Given the description of an element on the screen output the (x, y) to click on. 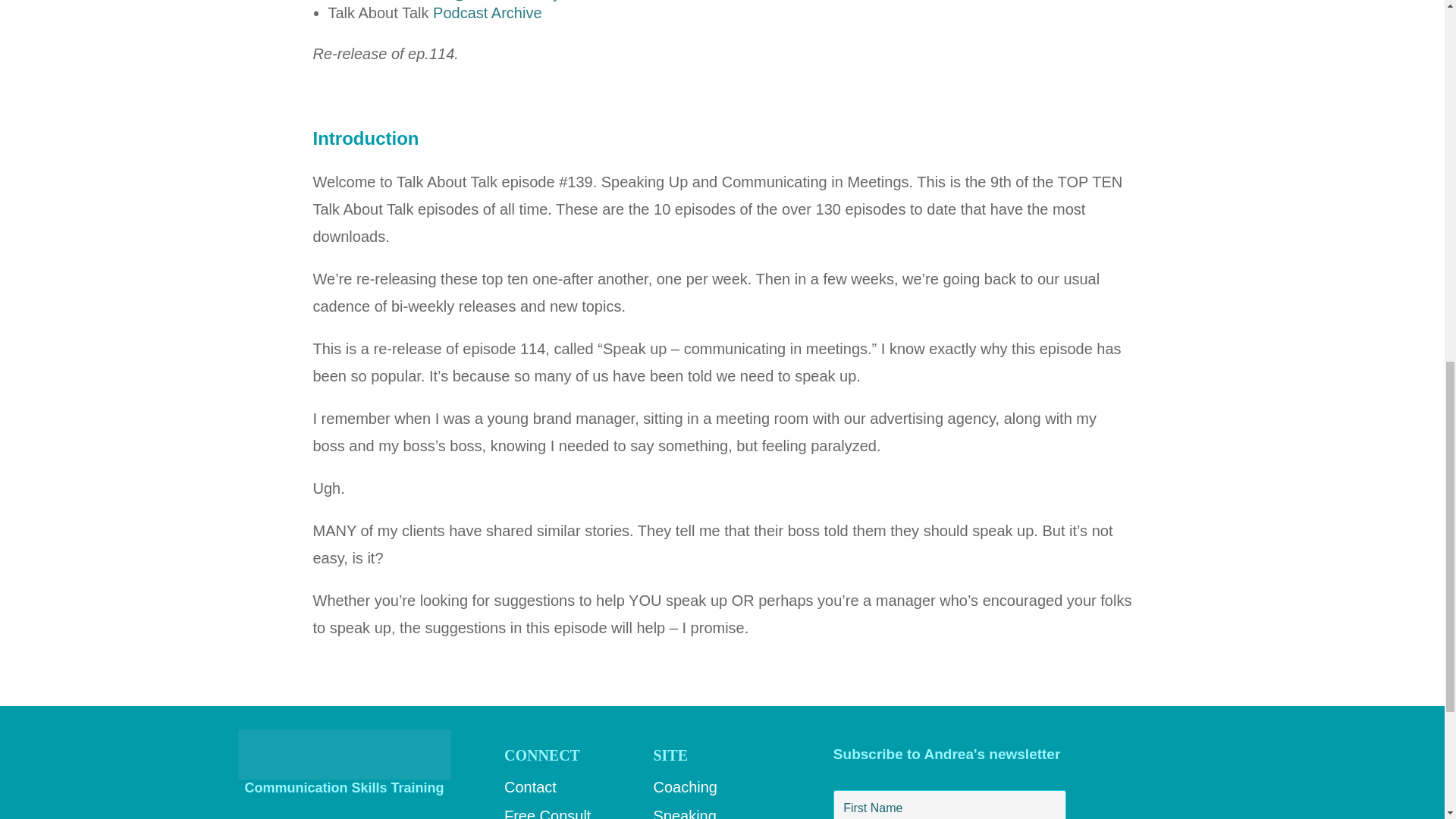
Talk About Talk logo - white text (344, 754)
Coaching (684, 786)
Podcast Archive (486, 12)
Free Consult (547, 813)
Speaking (684, 813)
Contact (529, 786)
